Given the description of an element on the screen output the (x, y) to click on. 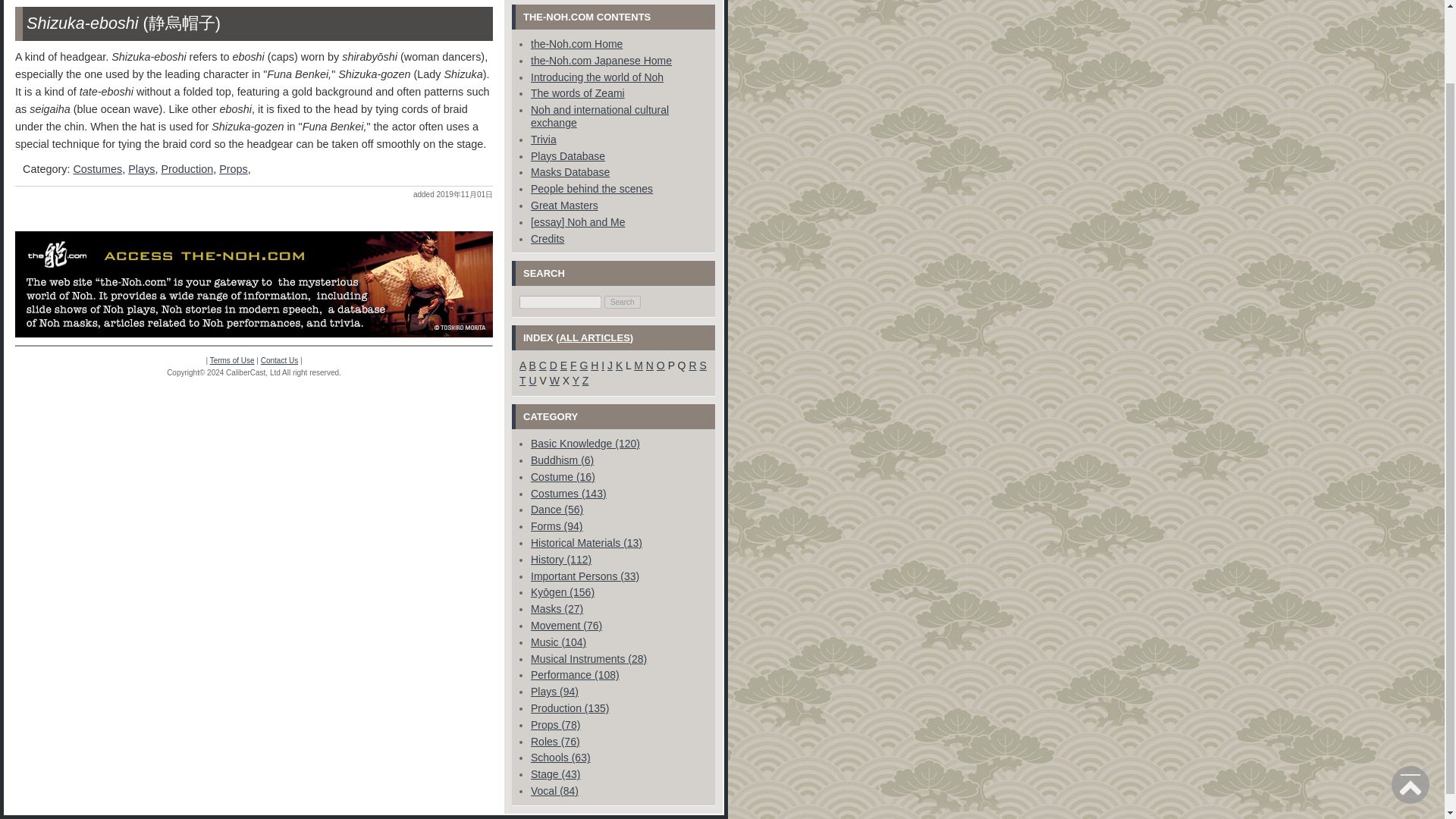
Great Masters (564, 205)
Noh and international cultural exchange (599, 116)
ALL ARTICLES (594, 337)
People behind the scenes (591, 188)
Search (622, 301)
The words of Zeami (577, 92)
the-Noh.com Japanese Home (601, 60)
Credits (547, 238)
Props (233, 168)
Contact Us (279, 360)
